Given the description of an element on the screen output the (x, y) to click on. 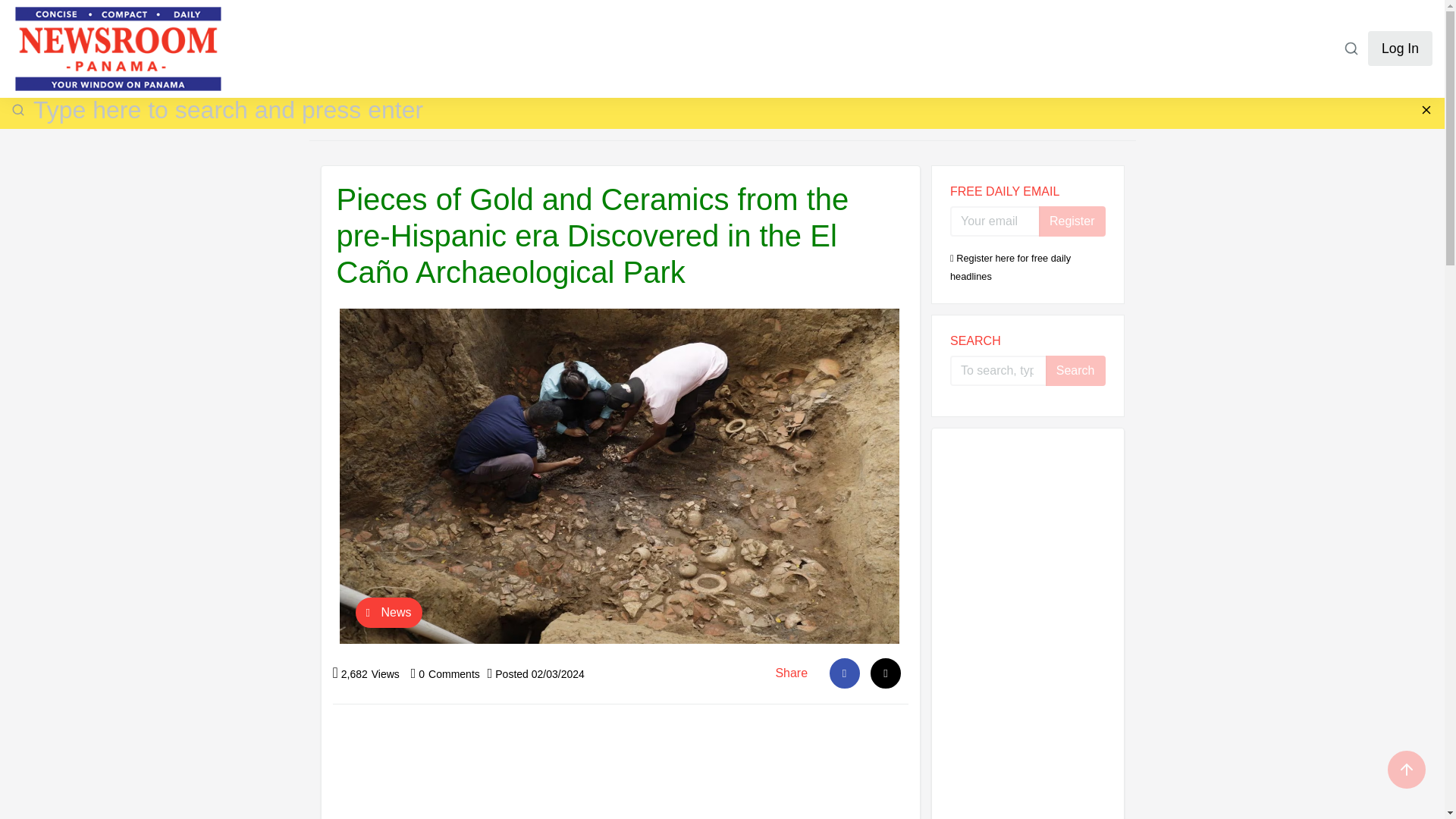
News (374, 122)
ENVIRONMENT (379, 61)
HEALTH (597, 61)
TRAVEL (777, 61)
0Comments (445, 674)
facebook (844, 673)
Advertisement (619, 769)
OPINION (530, 61)
Home (333, 122)
News (388, 612)
Share (791, 673)
EVENTS (843, 61)
Mail (885, 673)
WORLD (463, 61)
NEWS (121, 61)
